Given the description of an element on the screen output the (x, y) to click on. 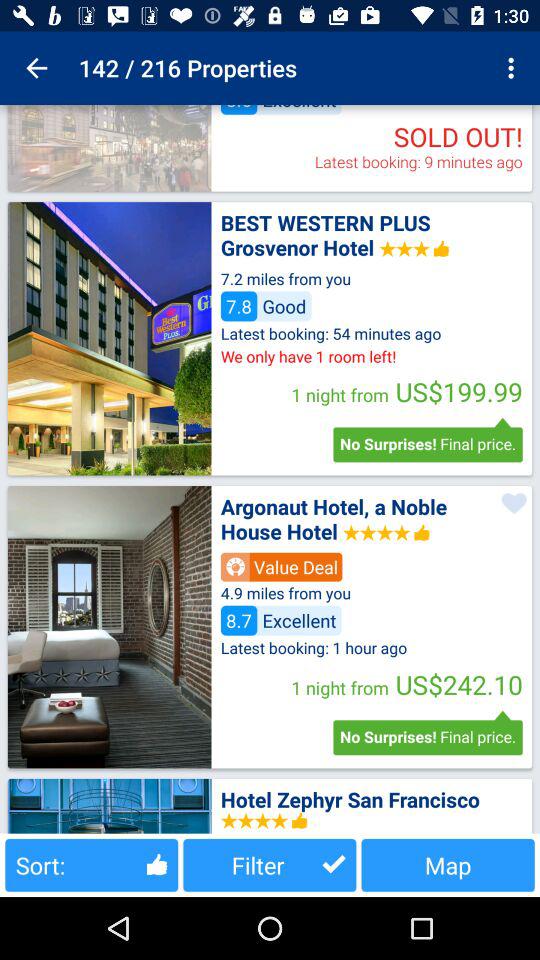
flip until map button (447, 864)
